Given the description of an element on the screen output the (x, y) to click on. 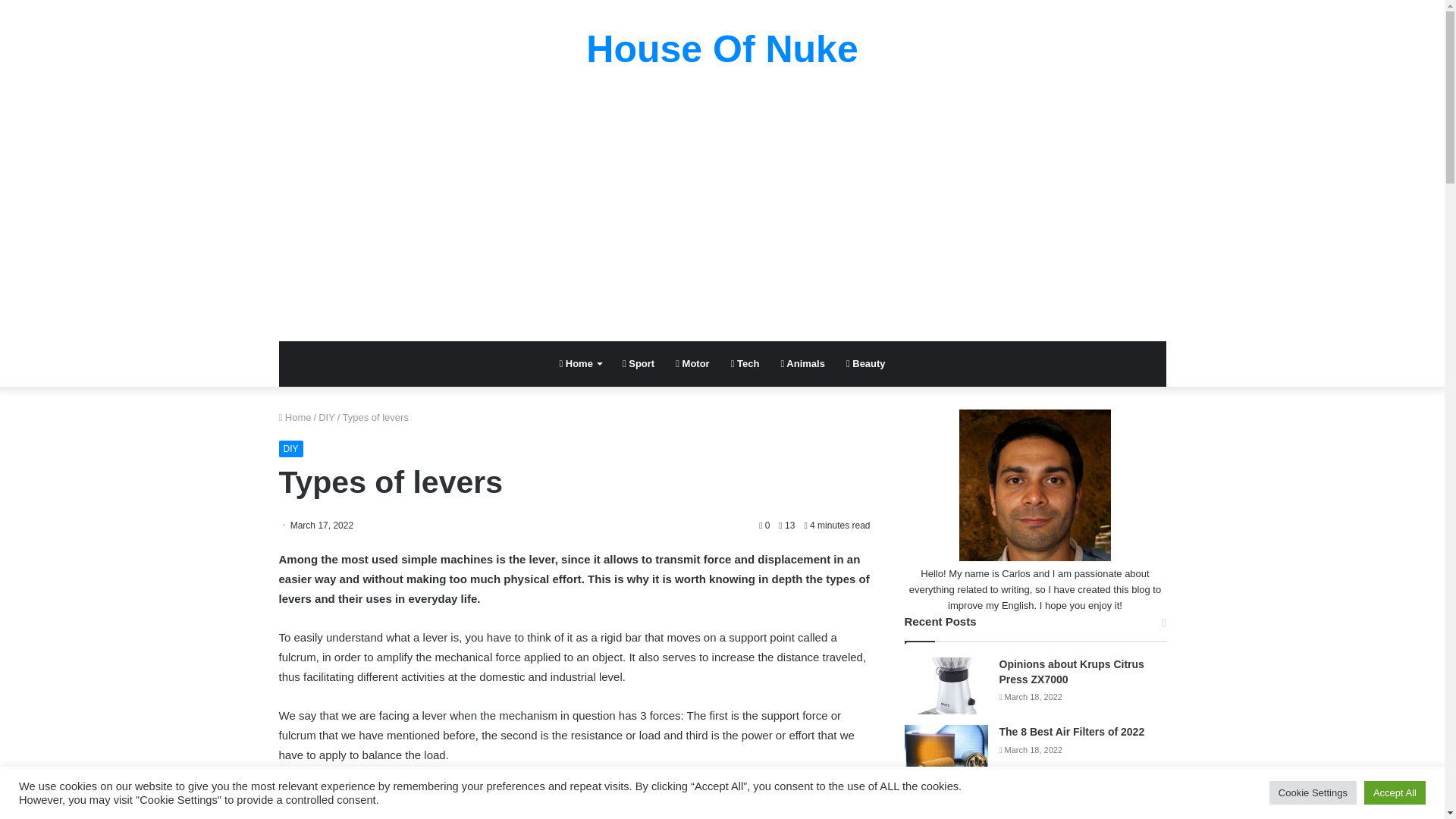
Opinions about Krups Citrus Press ZX7000 (1071, 671)
Home (295, 417)
DIY (290, 448)
House Of Nuke (721, 48)
Motor (692, 363)
House Of Nuke (721, 48)
Animals (802, 363)
DIY (326, 417)
Home (579, 363)
Beauty (865, 363)
Tech (745, 363)
The 8 Best Air Filters of 2022 (1071, 731)
Sport (638, 363)
